Given the description of an element on the screen output the (x, y) to click on. 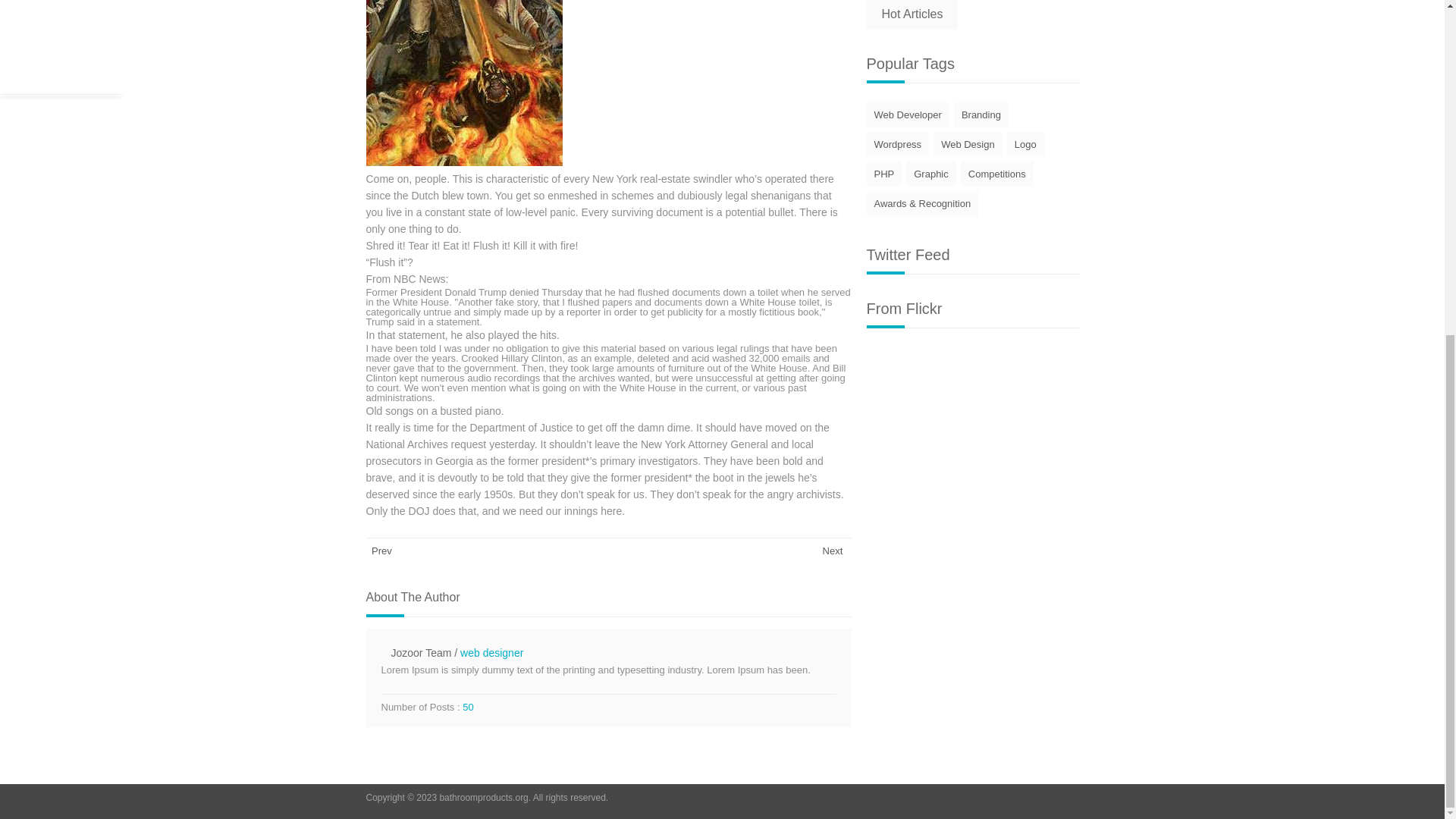
Next   (836, 551)
Sections (836, 551)
Shred It! Tear It! Eat It! Flush It! Kill It With Fire! (463, 83)
Prev (378, 551)
